Given the description of an element on the screen output the (x, y) to click on. 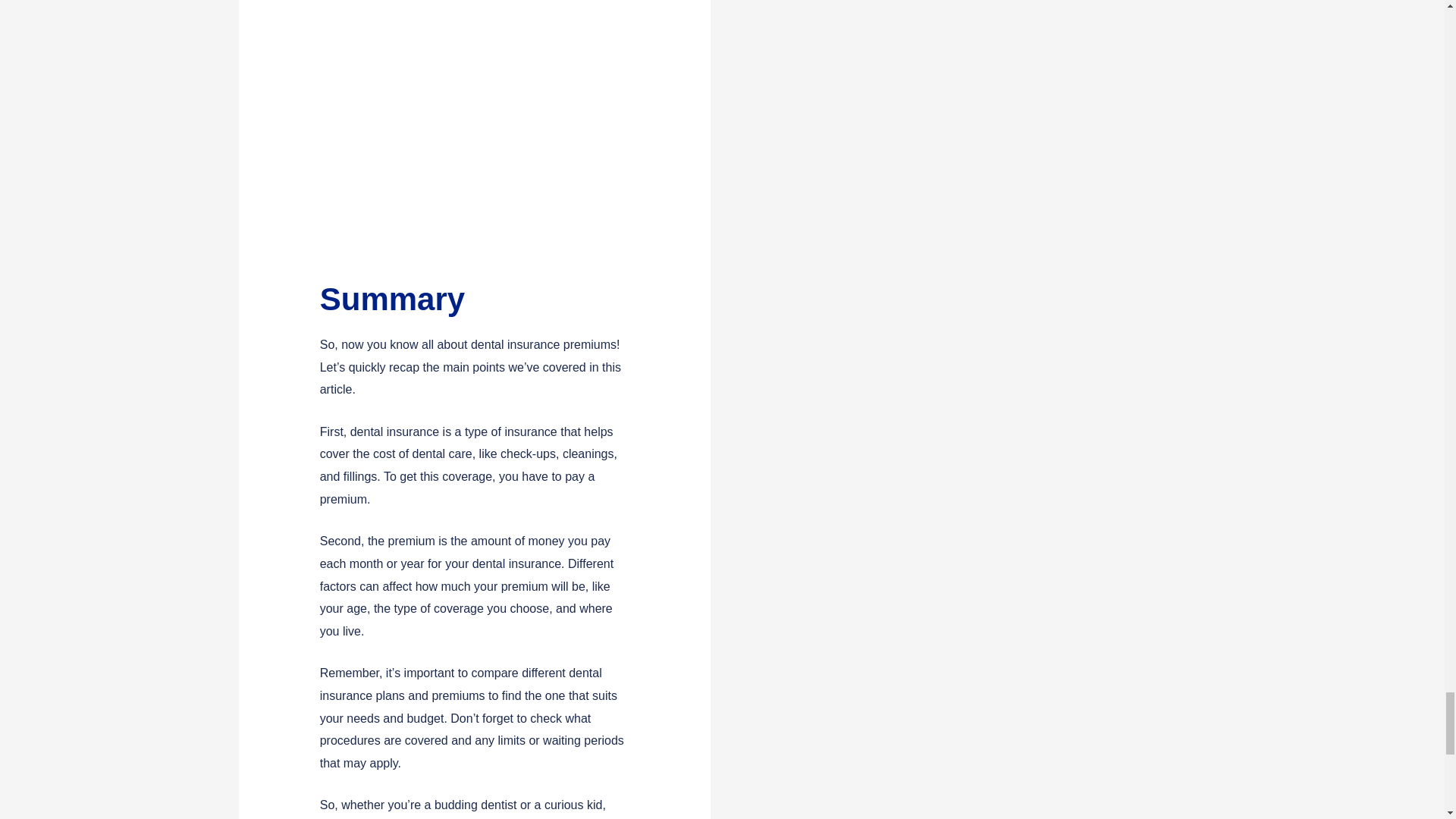
What is dental insurance? (475, 133)
